Given the description of an element on the screen output the (x, y) to click on. 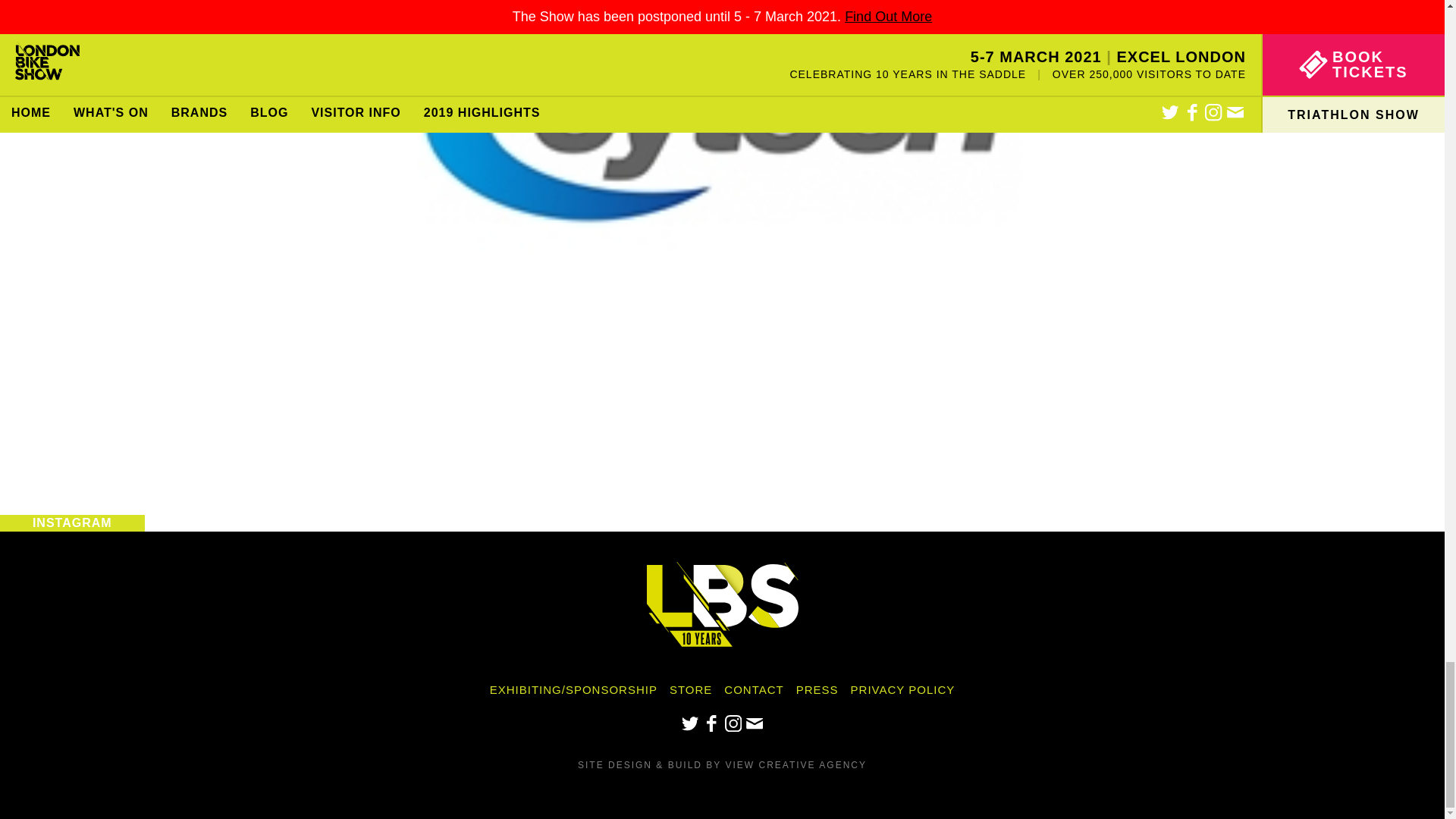
CONTACT (753, 689)
VIEW CREATIVE AGENCY (795, 765)
INSTAGRAM (72, 523)
PRESS (817, 689)
STORE (690, 689)
PRIVACY POLICY (902, 689)
